Given the description of an element on the screen output the (x, y) to click on. 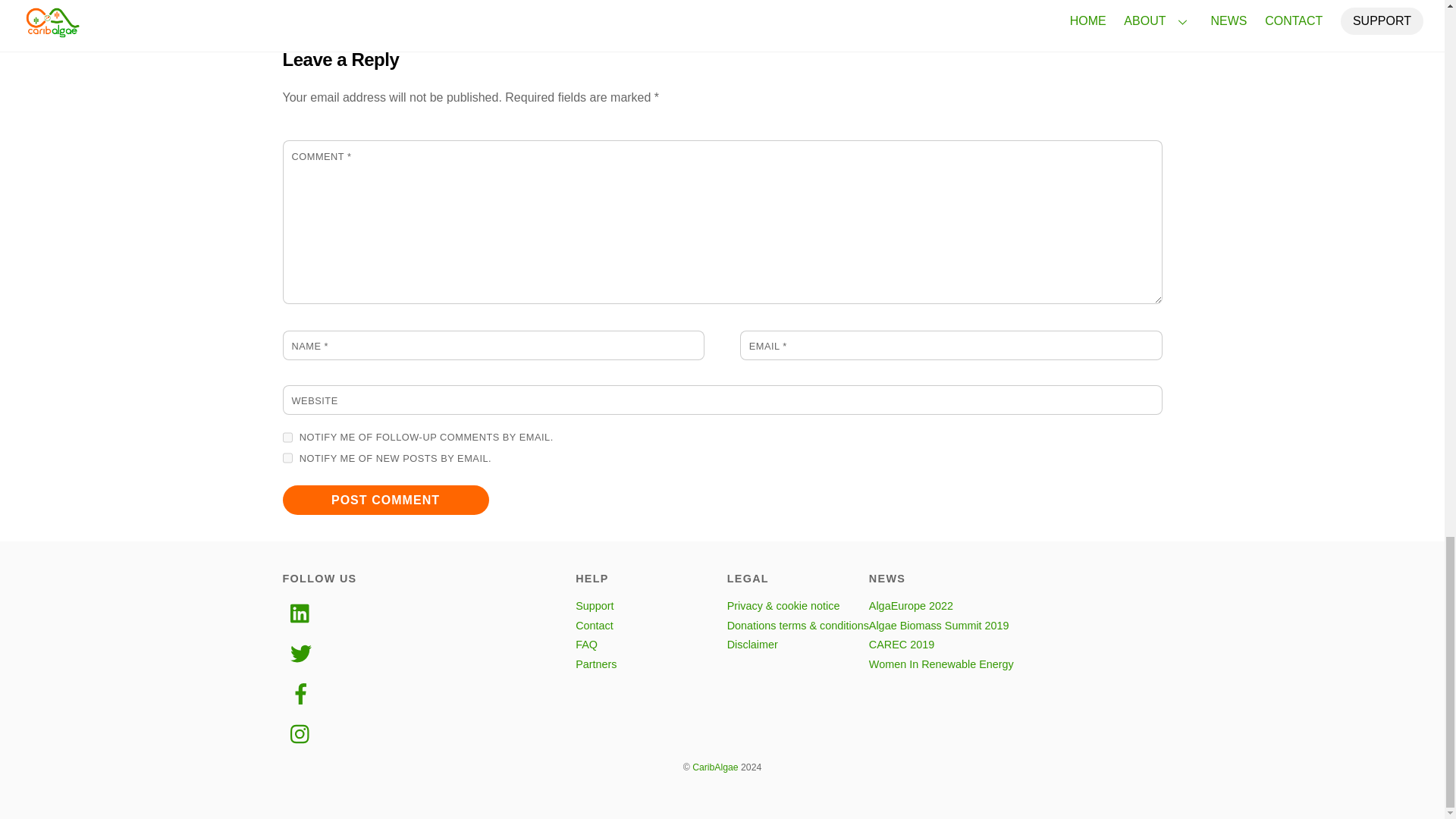
Support (593, 605)
Post Comment (384, 500)
Contact (593, 625)
Post Comment (384, 500)
FAQ (585, 644)
